Given the description of an element on the screen output the (x, y) to click on. 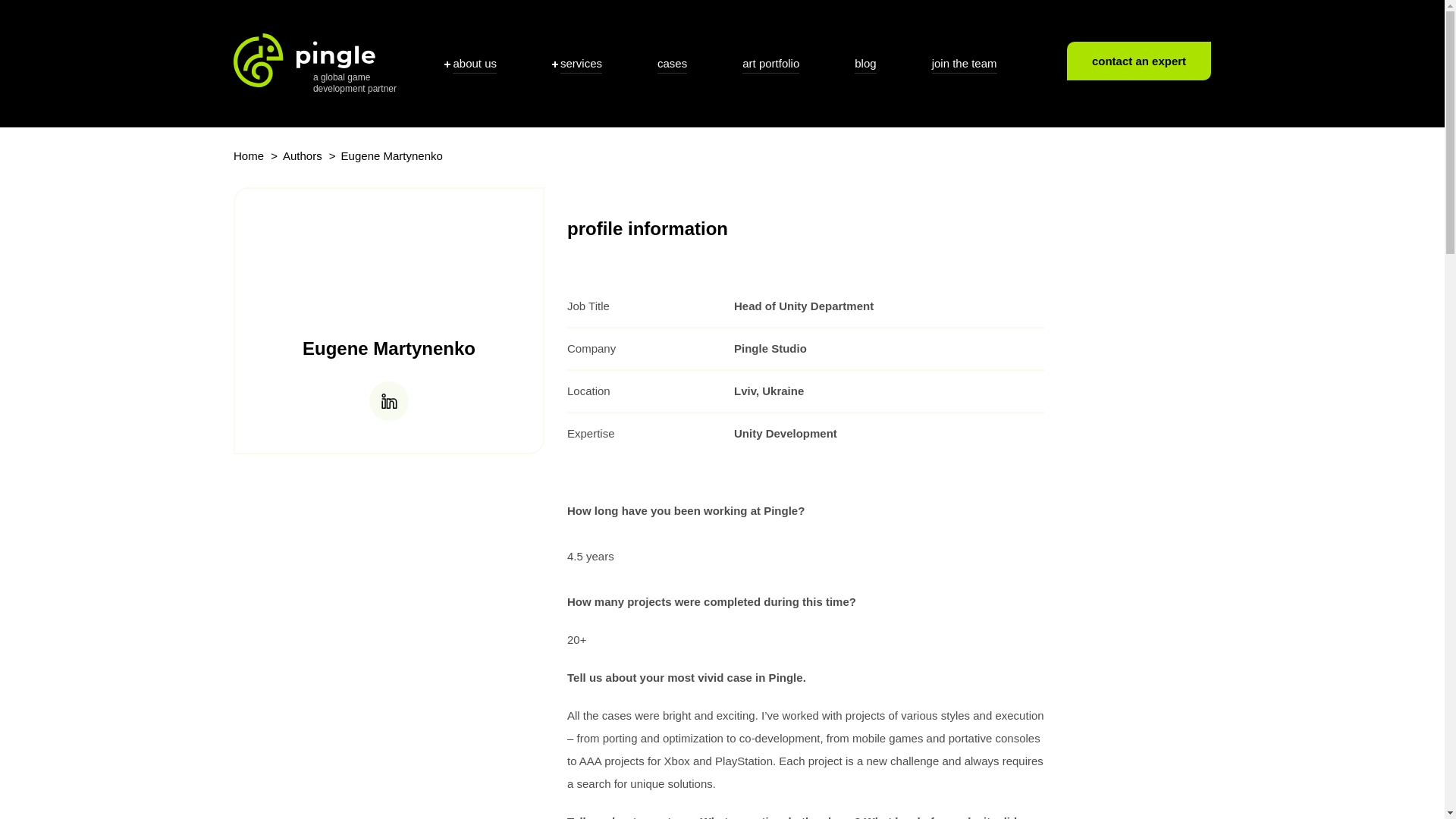
Authors (301, 155)
blog (865, 63)
about us (470, 63)
contact an expert (1139, 60)
join the team (964, 63)
Home (257, 156)
art portfolio (314, 64)
linkedin (770, 63)
services (389, 400)
